Given the description of an element on the screen output the (x, y) to click on. 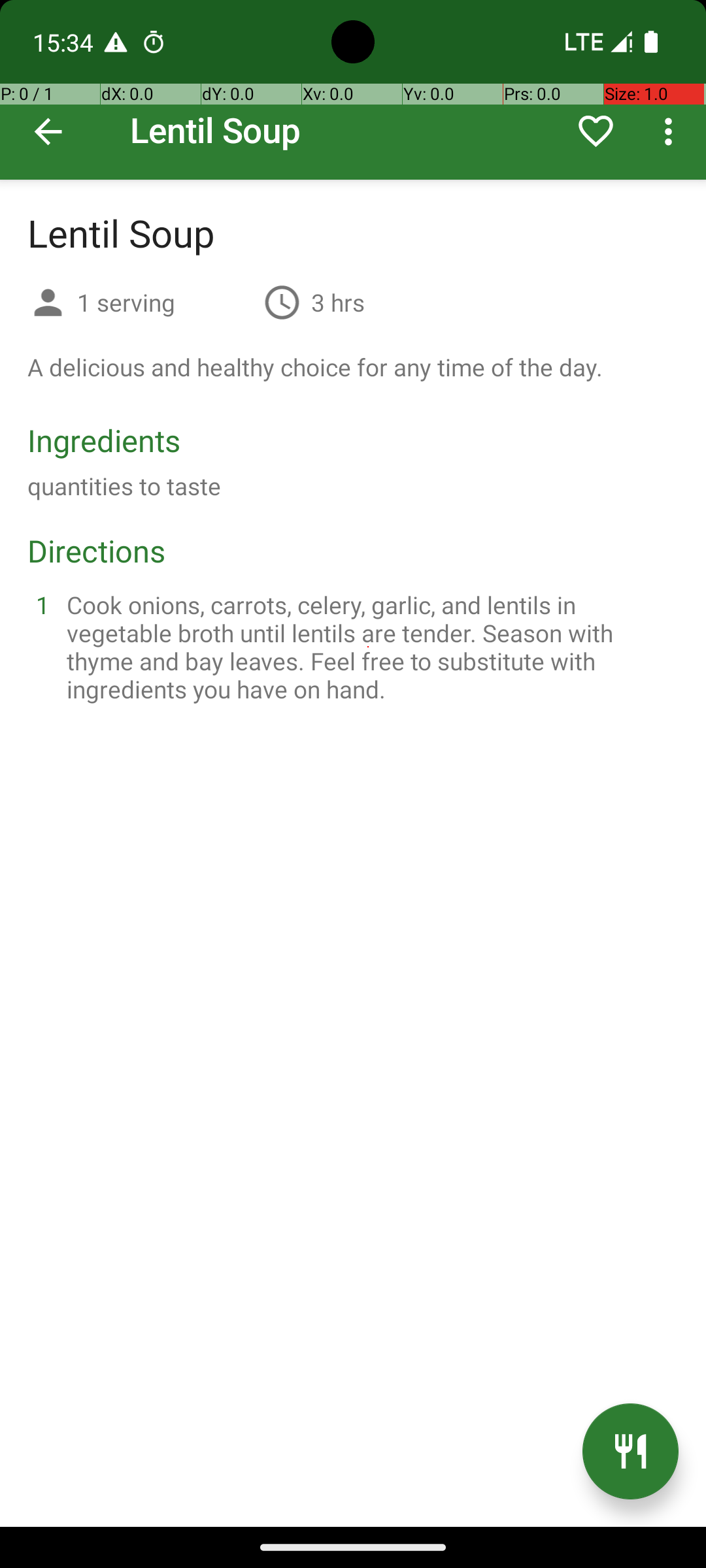
Lentil Soup Element type: android.widget.FrameLayout (353, 89)
quantities to taste Element type: android.widget.TextView (123, 485)
Cook onions, carrots, celery, garlic, and lentils in vegetable broth until lentils are tender. Season with thyme and bay leaves. Feel free to substitute with ingredients you have on hand. Element type: android.widget.TextView (368, 646)
